Given the description of an element on the screen output the (x, y) to click on. 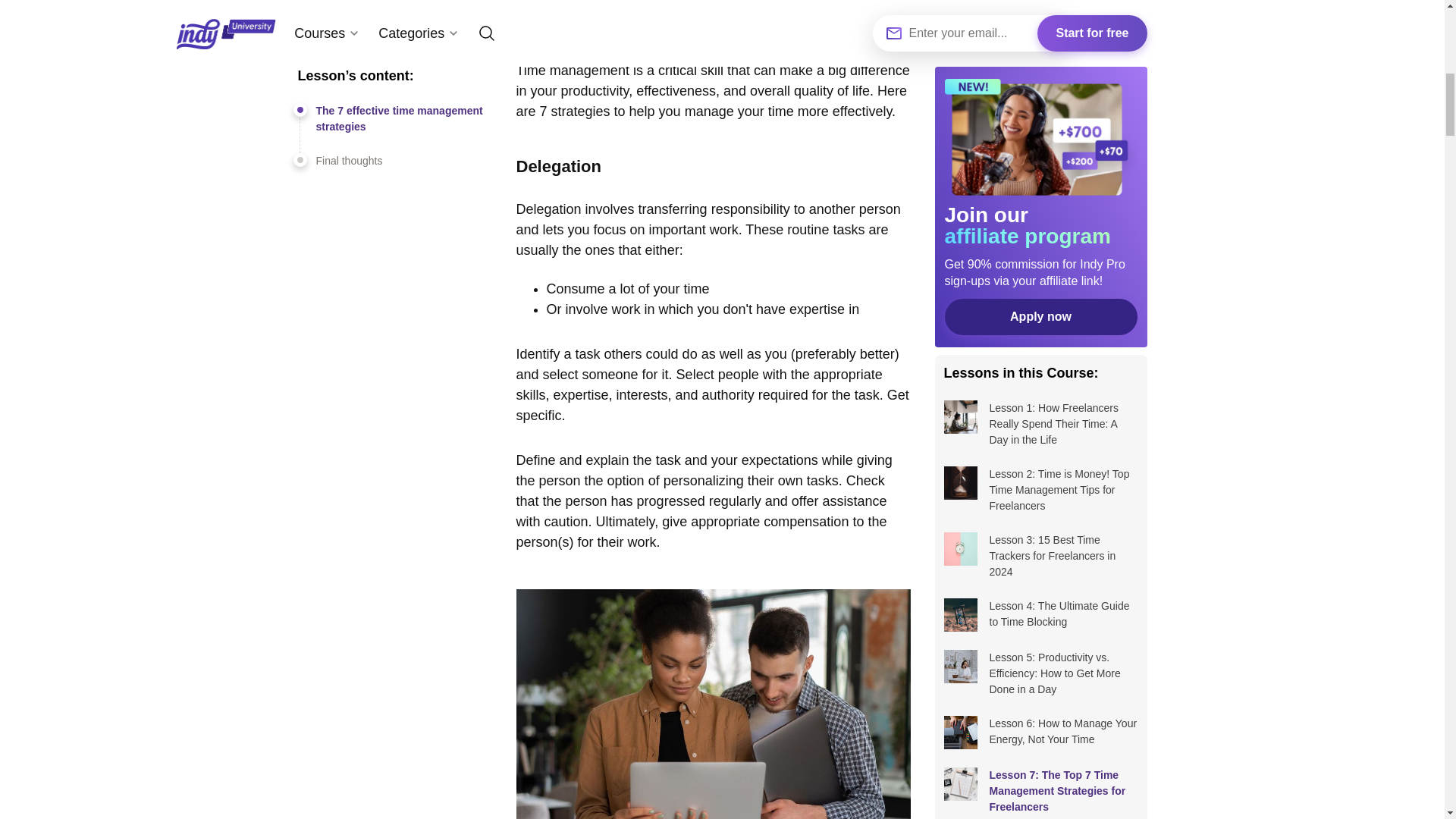
Content Creator Career 101 (1040, 686)
Lesson 4: The Ultimate Guide to Time Blocking (1040, 222)
Project Management for Freelancers (1040, 713)
Lesson 6: How to Manage Your Energy, Not Your Time (1040, 340)
